Given the description of an element on the screen output the (x, y) to click on. 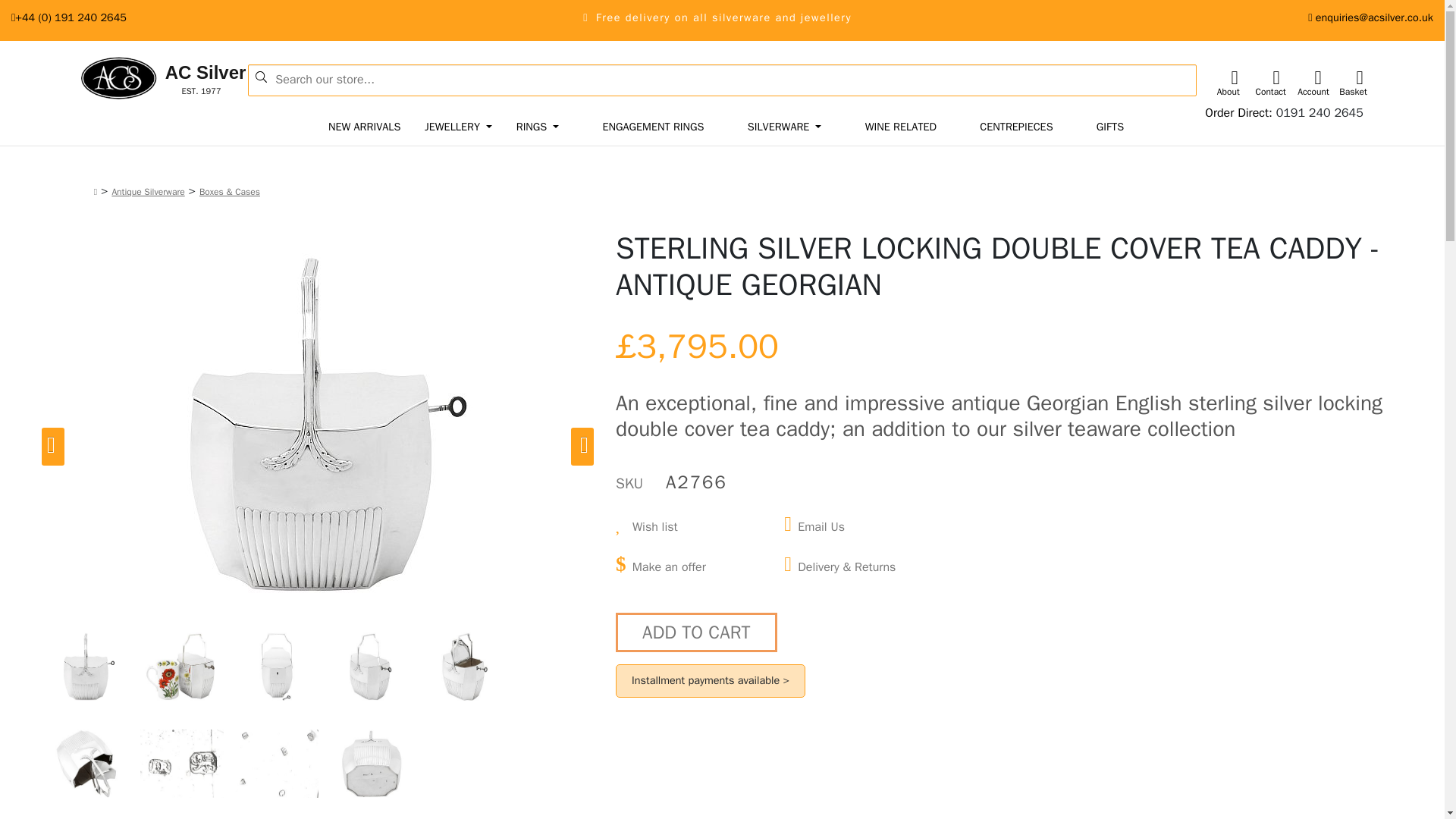
JEWELLERY (458, 126)
RINGS (538, 126)
NEW ARRIVALS (363, 126)
0191 240 2645 (1319, 112)
